Given the description of an element on the screen output the (x, y) to click on. 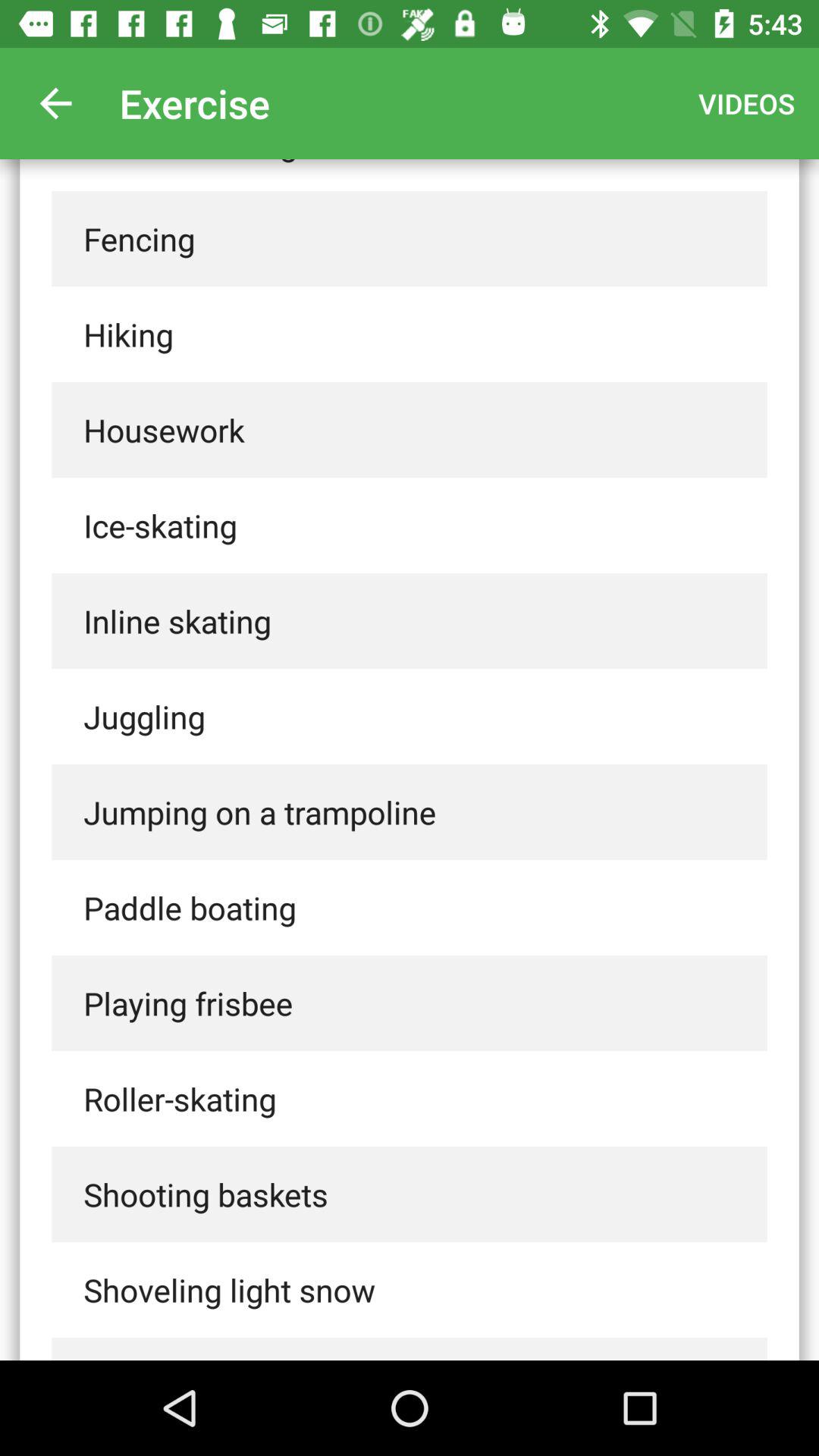
select the videos icon (746, 103)
